Given the description of an element on the screen output the (x, y) to click on. 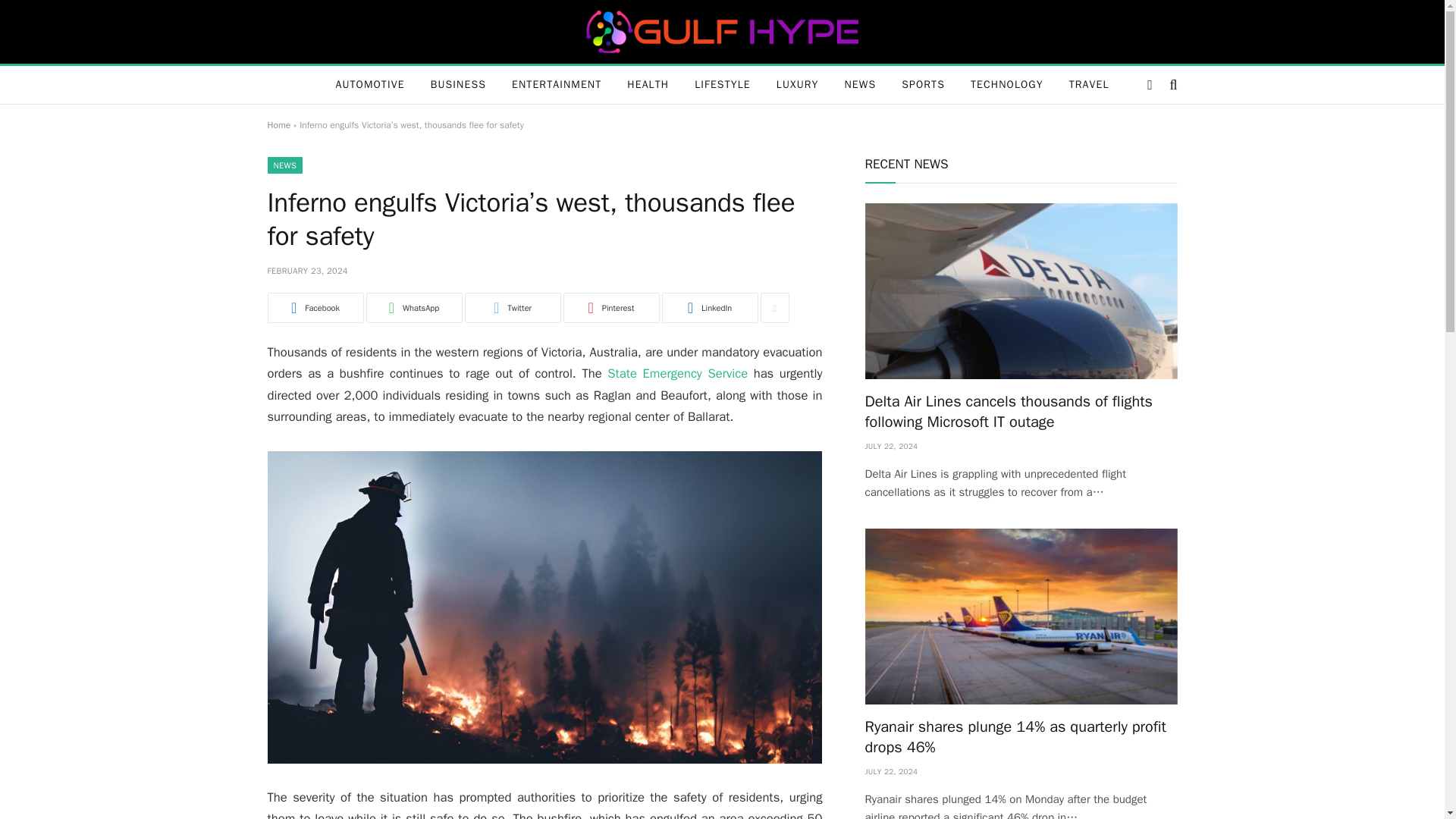
State Emergency Service (677, 373)
AUTOMOTIVE (368, 85)
Search (1171, 84)
WhatsApp (413, 307)
Twitter (512, 307)
NEWS (284, 165)
Pinterest (610, 307)
Share on Pinterest (610, 307)
LIFESTYLE (721, 85)
BUSINESS (458, 85)
TRAVEL (1089, 85)
Switch to Dark Design - easier on eyes. (1149, 84)
TECHNOLOGY (1007, 85)
Share on Facebook (314, 307)
